Given the description of an element on the screen output the (x, y) to click on. 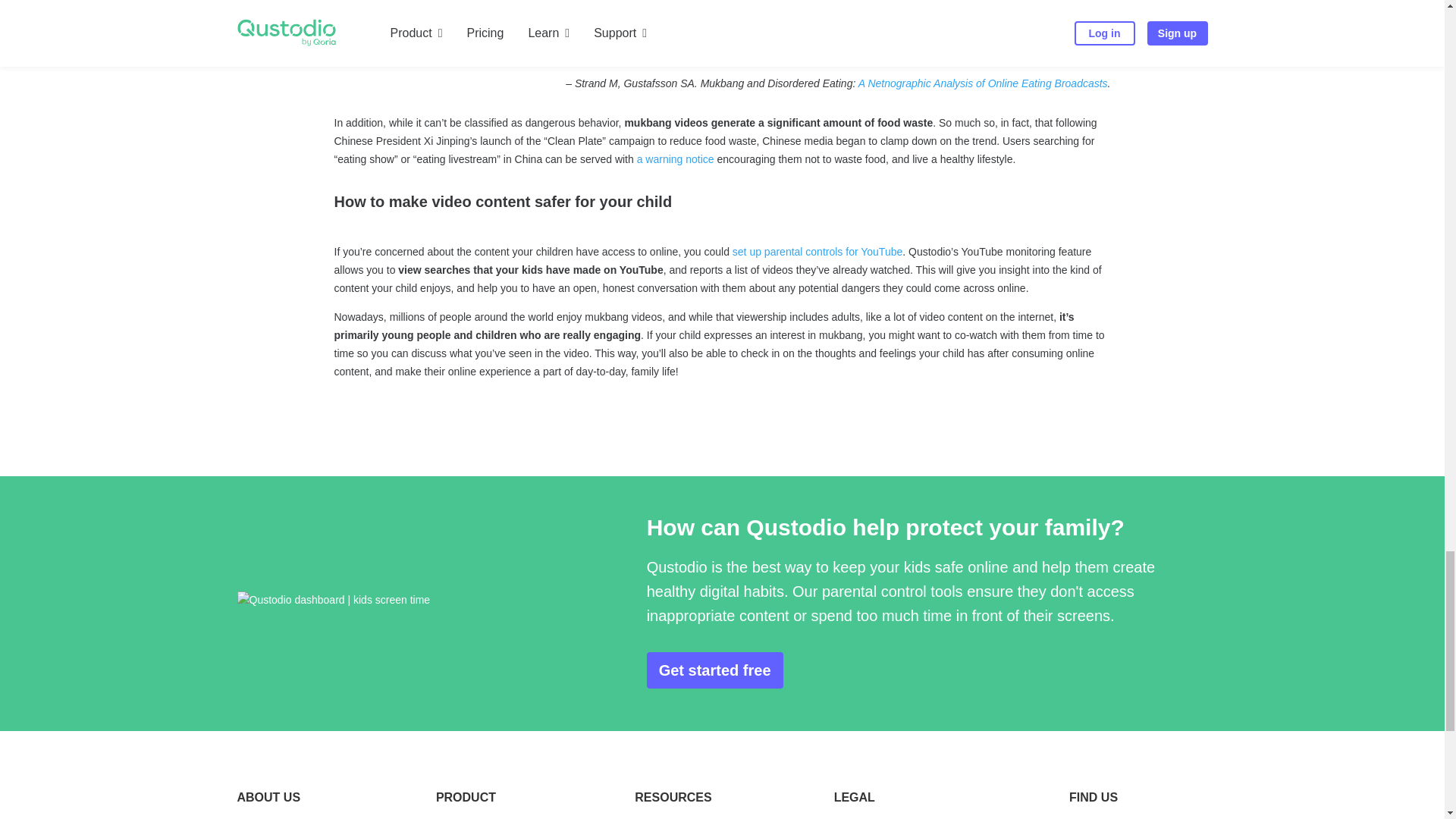
a warning notice (675, 159)
A Netnographic Analysis of Online Eating Broadcasts (983, 82)
set up parental controls for YouTube (817, 251)
Get started free (714, 669)
